Given the description of an element on the screen output the (x, y) to click on. 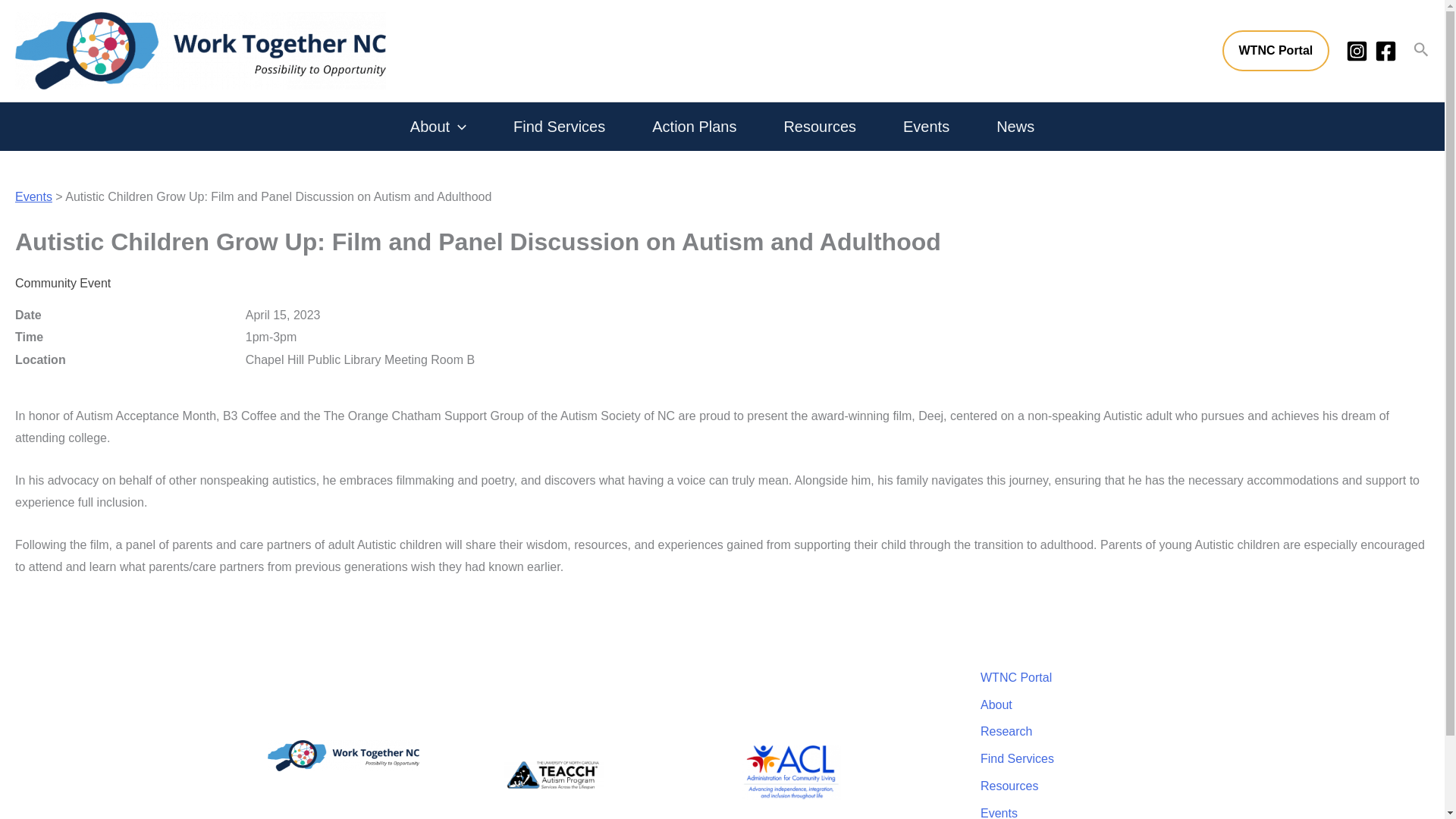
Resources (819, 126)
Find Services (558, 126)
About (437, 126)
Events (33, 196)
News (1015, 126)
Action Plans (694, 126)
WTNC Portal (1276, 50)
Events (925, 126)
